Given the description of an element on the screen output the (x, y) to click on. 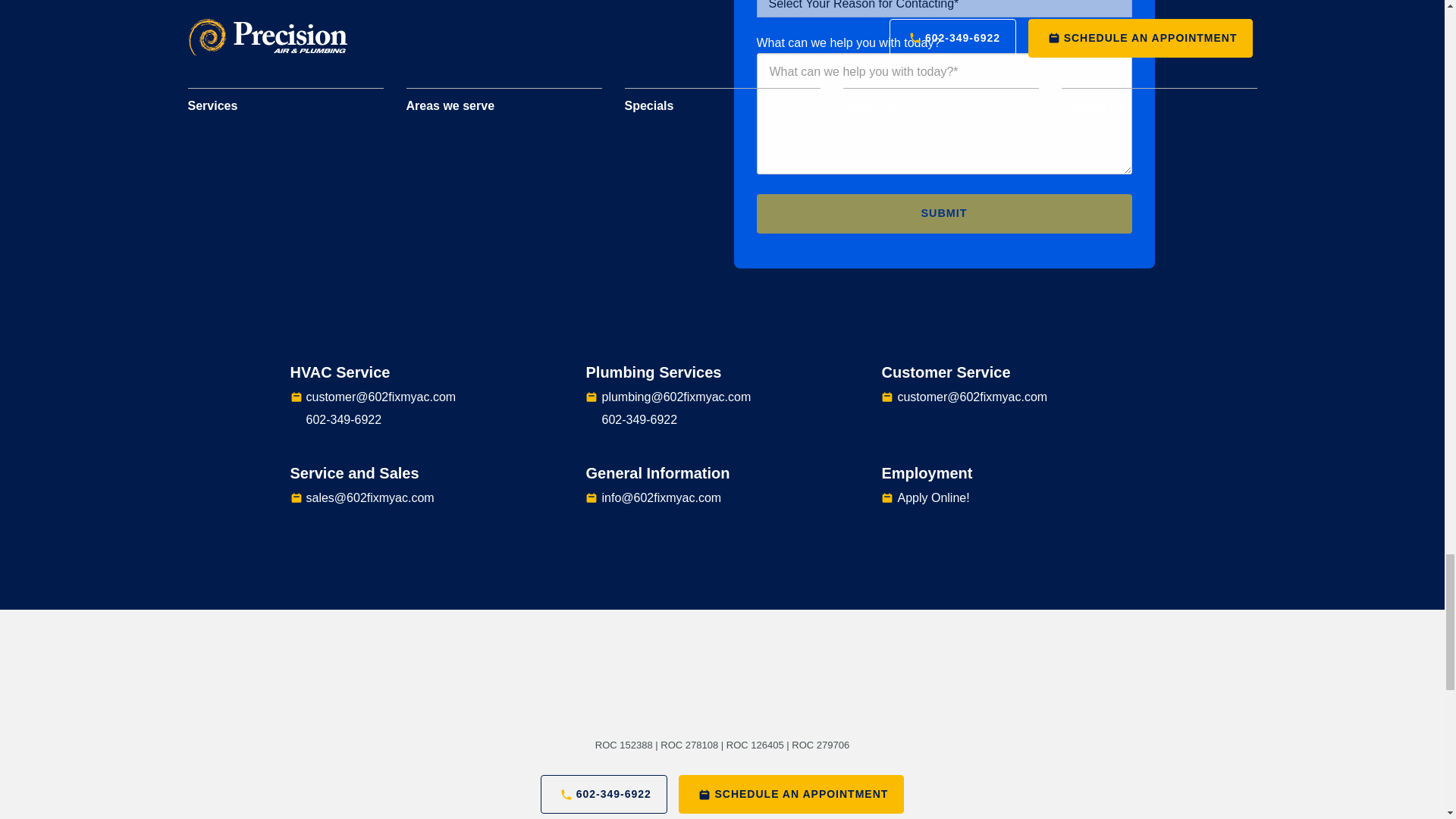
Submit (944, 213)
